Given the description of an element on the screen output the (x, y) to click on. 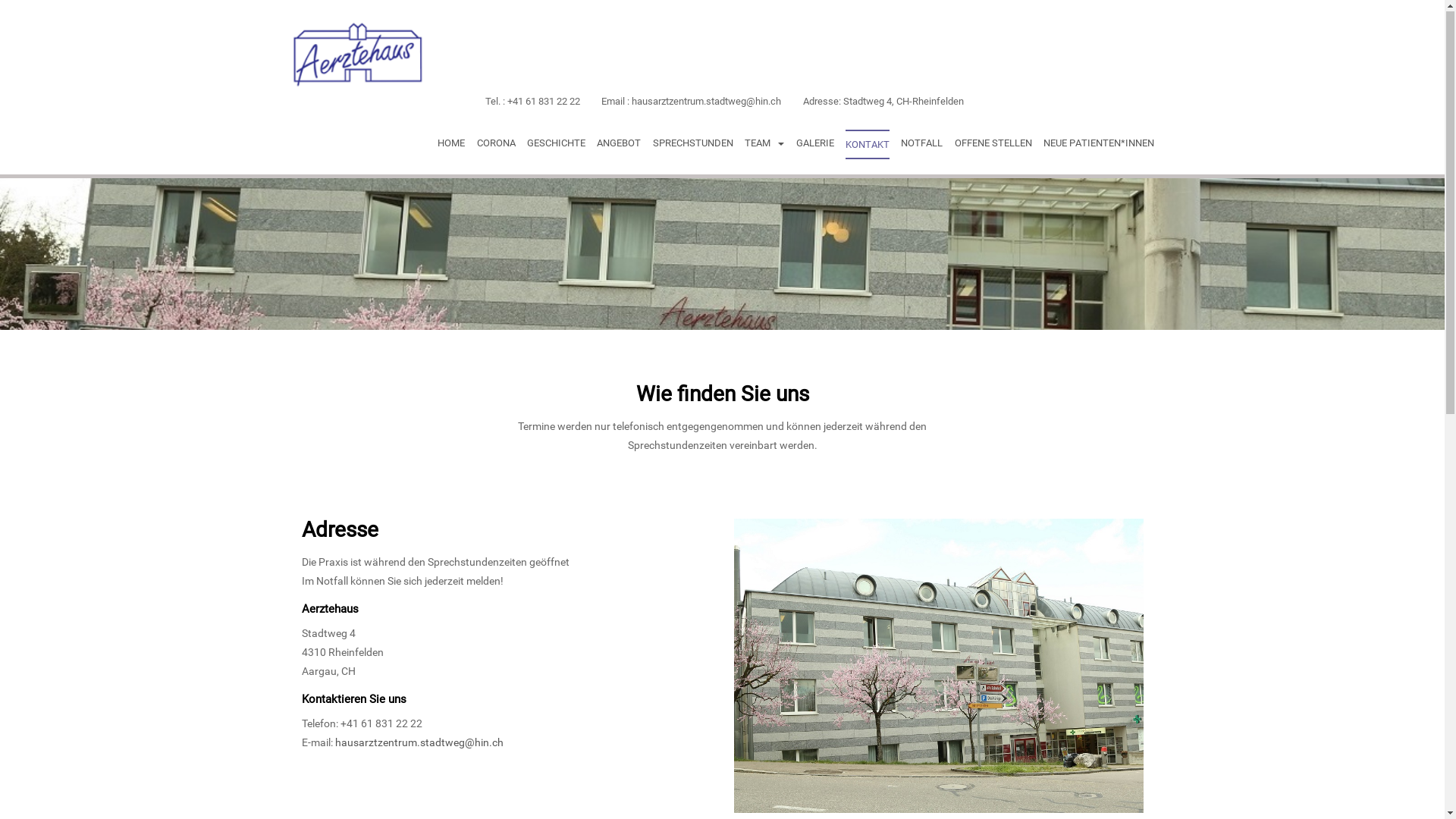
GESCHICHTE Element type: text (556, 143)
hausarztzentrum.stadtweg@hin.ch Element type: text (706, 101)
GALERIE Element type: text (815, 143)
TEAM Element type: text (764, 143)
CORONA Element type: text (495, 143)
KONTAKT Element type: text (867, 145)
ANGEBOT Element type: text (618, 143)
OFFENE STELLEN Element type: text (993, 143)
NOTFALL Element type: text (921, 143)
hausarztzentrum.stadtweg@hin.ch Element type: text (419, 743)
SPRECHSTUNDEN Element type: text (692, 143)
HOME Element type: text (450, 143)
NEUE PATIENTEN*INNEN Element type: text (1098, 143)
